Given the description of an element on the screen output the (x, y) to click on. 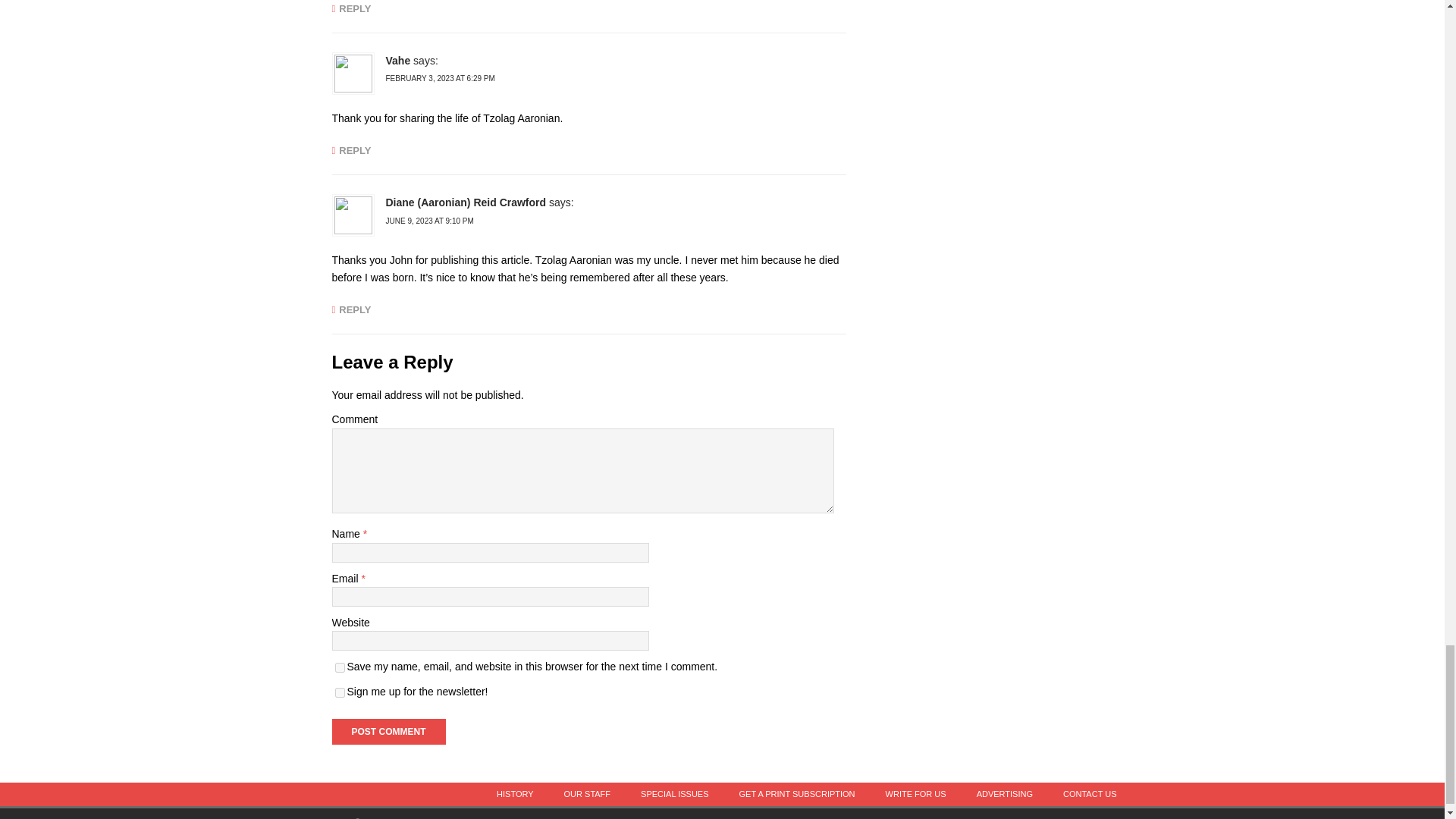
yes (339, 667)
Post Comment (388, 731)
1 (339, 692)
